Given the description of an element on the screen output the (x, y) to click on. 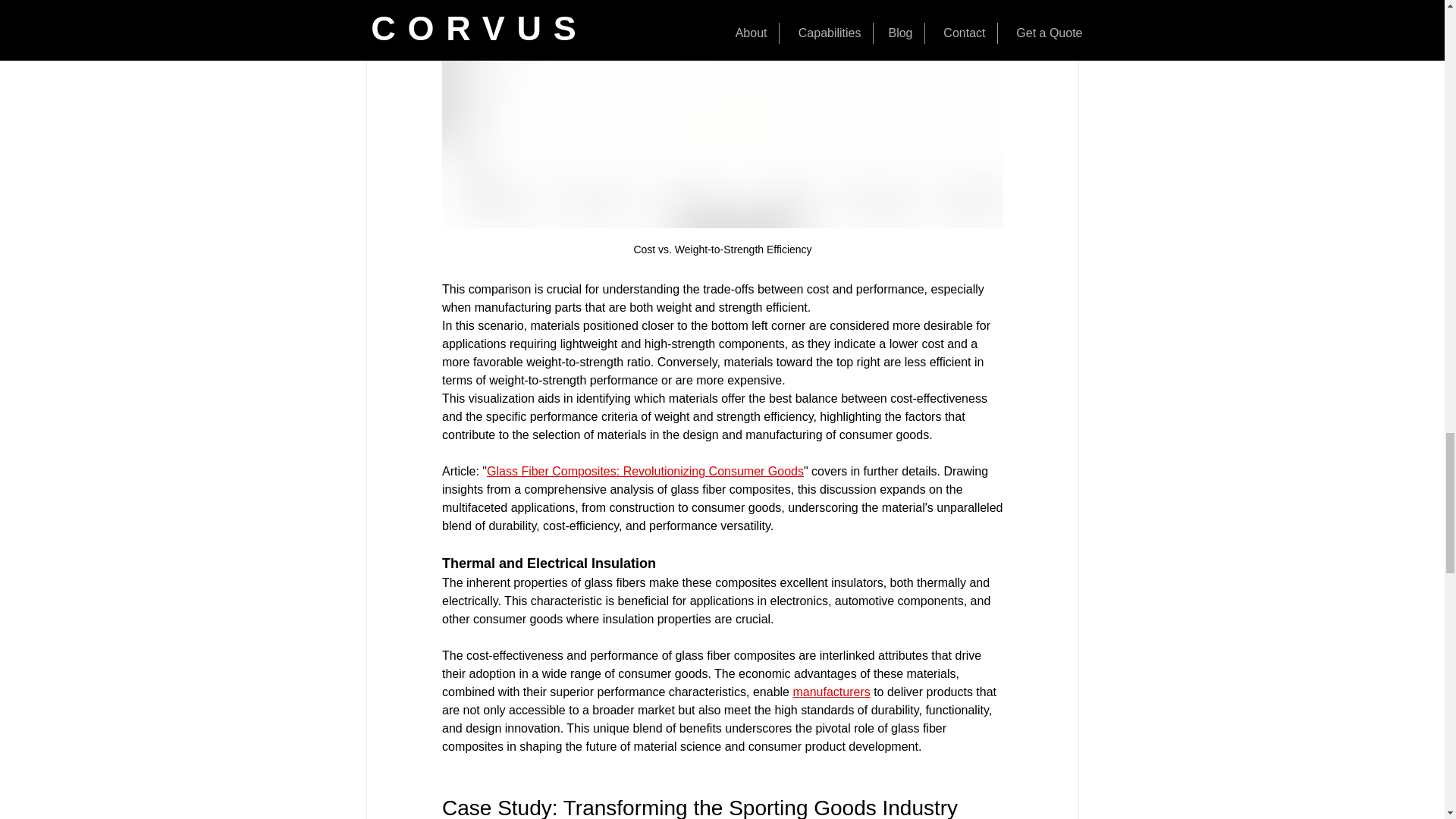
manufacturers (830, 691)
Glass Fiber Composites: Revolutionizing Consumer Goods (644, 471)
